Given the description of an element on the screen output the (x, y) to click on. 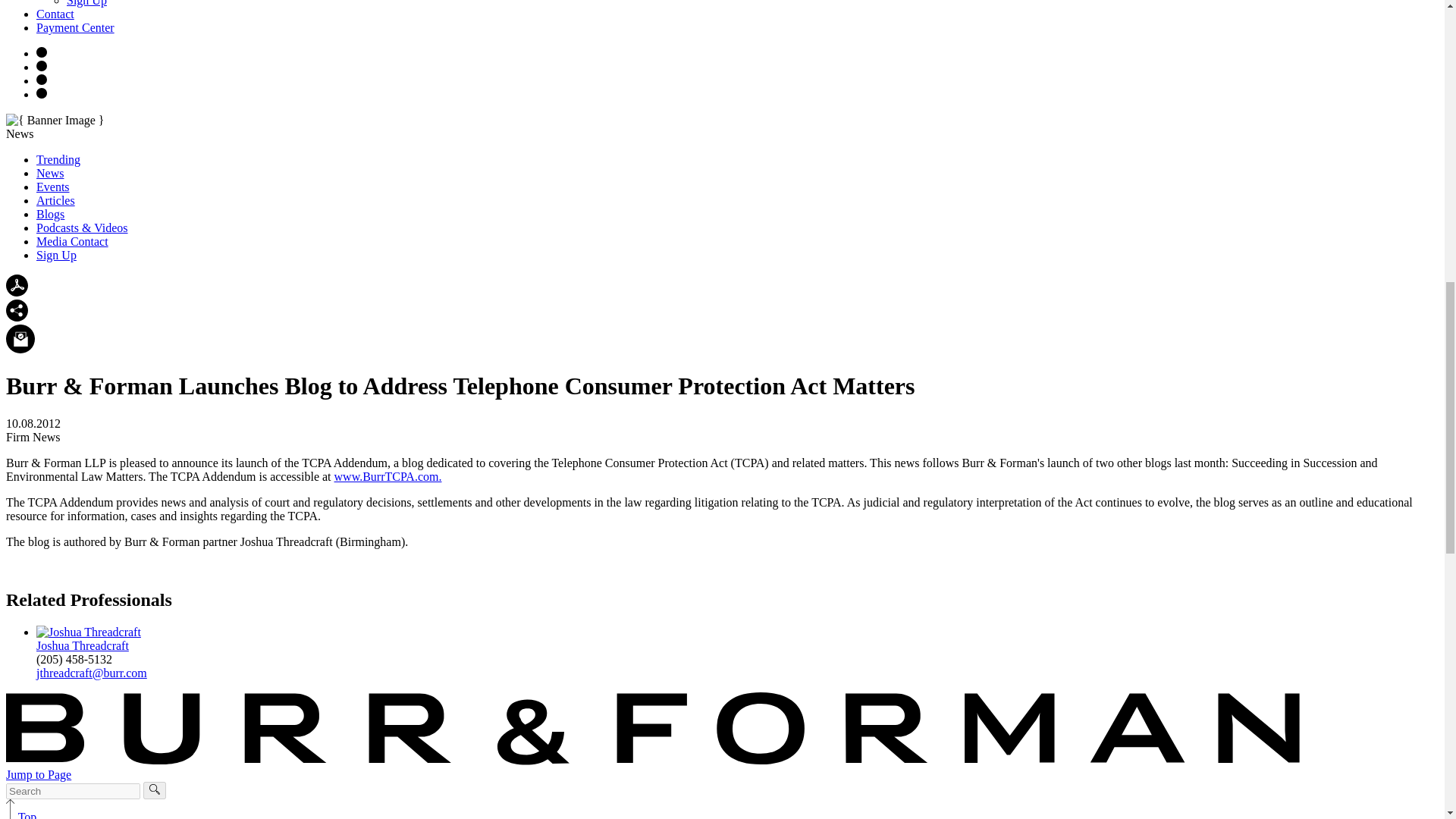
Share (16, 310)
Burr (653, 728)
Linkedin (41, 92)
Share (16, 317)
Subscribe (19, 338)
Facebook (41, 65)
PDF (16, 285)
Instagram (41, 51)
Print PDF (16, 291)
Search (154, 788)
